Given the description of an element on the screen output the (x, y) to click on. 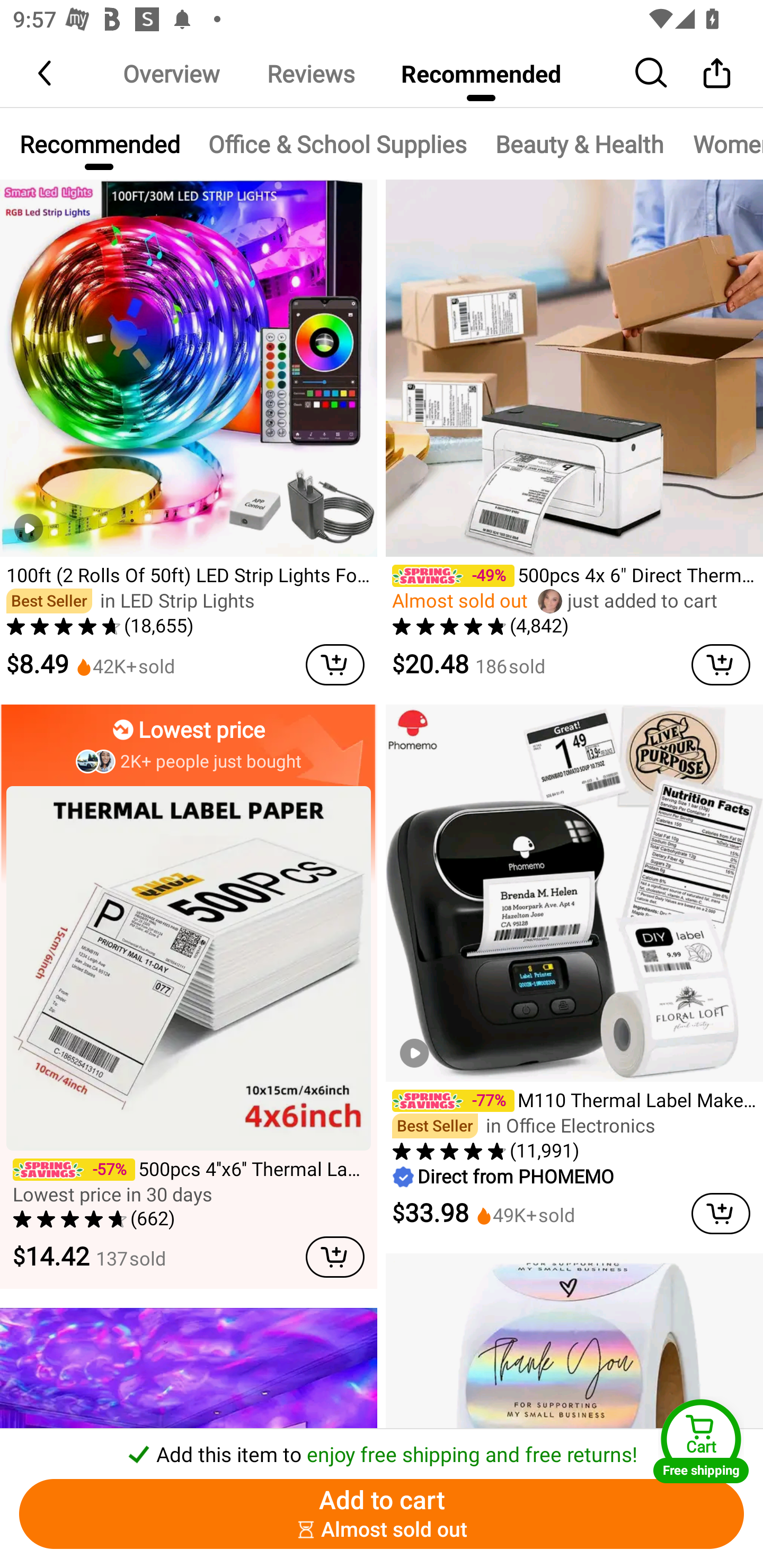
Overview (171, 72)
Reviews (310, 72)
Recommended (480, 72)
Back (46, 72)
Share (716, 72)
Recommended (98, 144)
Office & School Supplies (337, 144)
Beauty & Health (579, 144)
cart delete (334, 664)
cart delete (720, 664)
 Lowest price 2K+ people just bought (188, 738)
cart delete (720, 1213)
cart delete (328, 1256)
Cart Free shipping Cart (701, 1440)
Add to cart ￼￼Almost sold out (381, 1513)
